Given the description of an element on the screen output the (x, y) to click on. 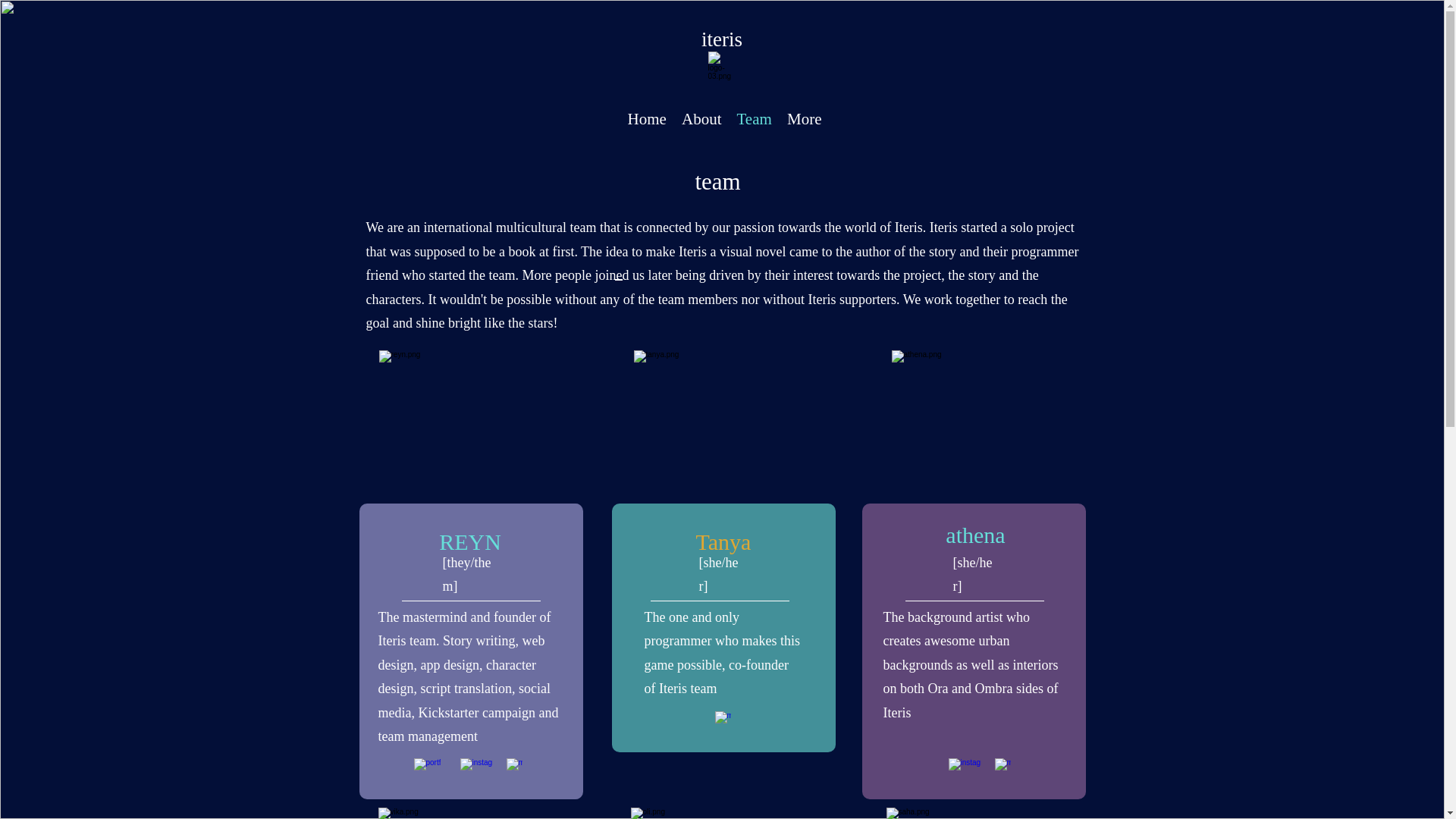
About (700, 118)
Home (647, 118)
Team (753, 118)
